Given the description of an element on the screen output the (x, y) to click on. 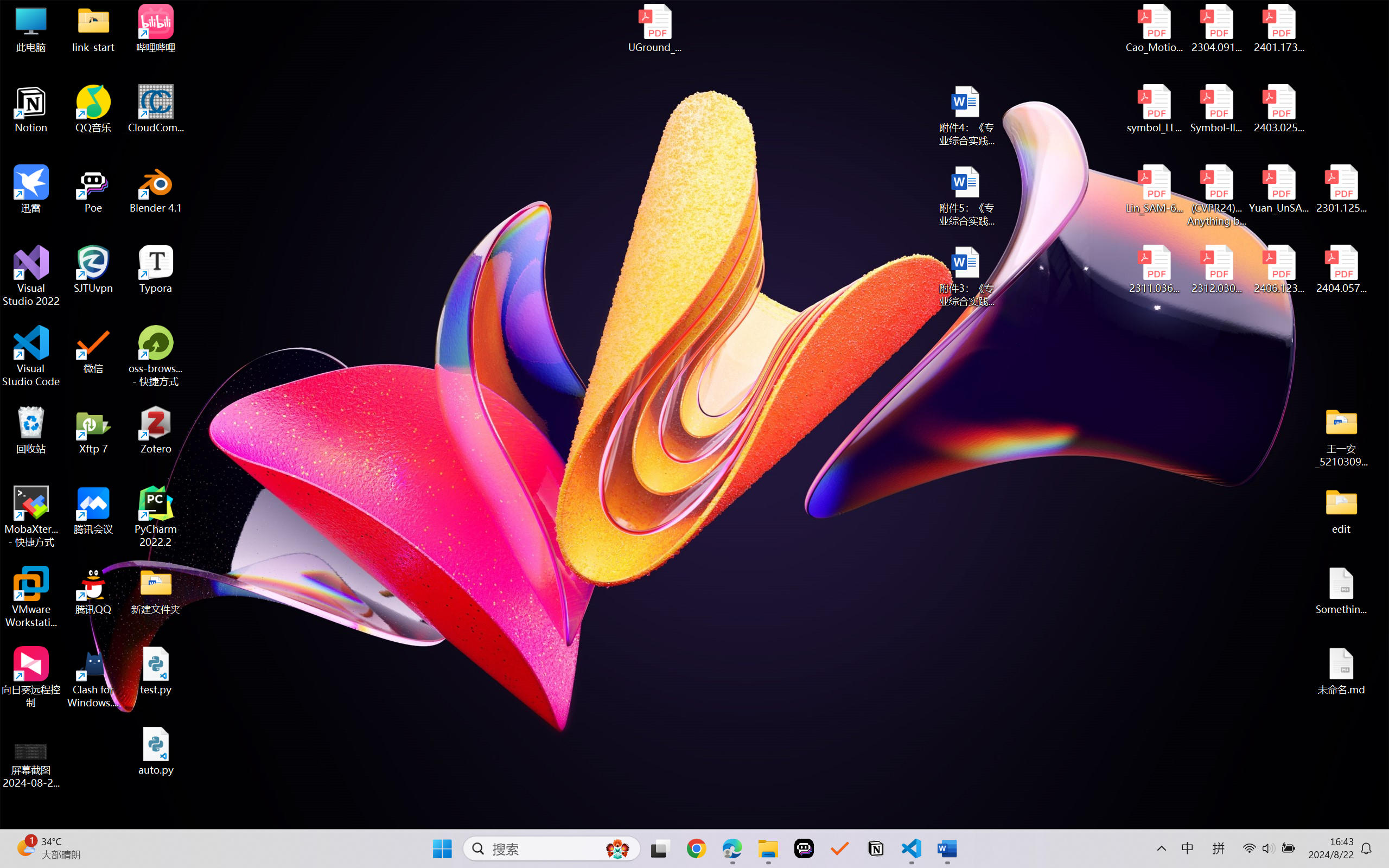
VMware Workstation Pro (31, 597)
test.py (156, 670)
2403.02502v1.pdf (1278, 109)
auto.py (156, 751)
Symbol-llm-v2.pdf (1216, 109)
